Given the description of an element on the screen output the (x, y) to click on. 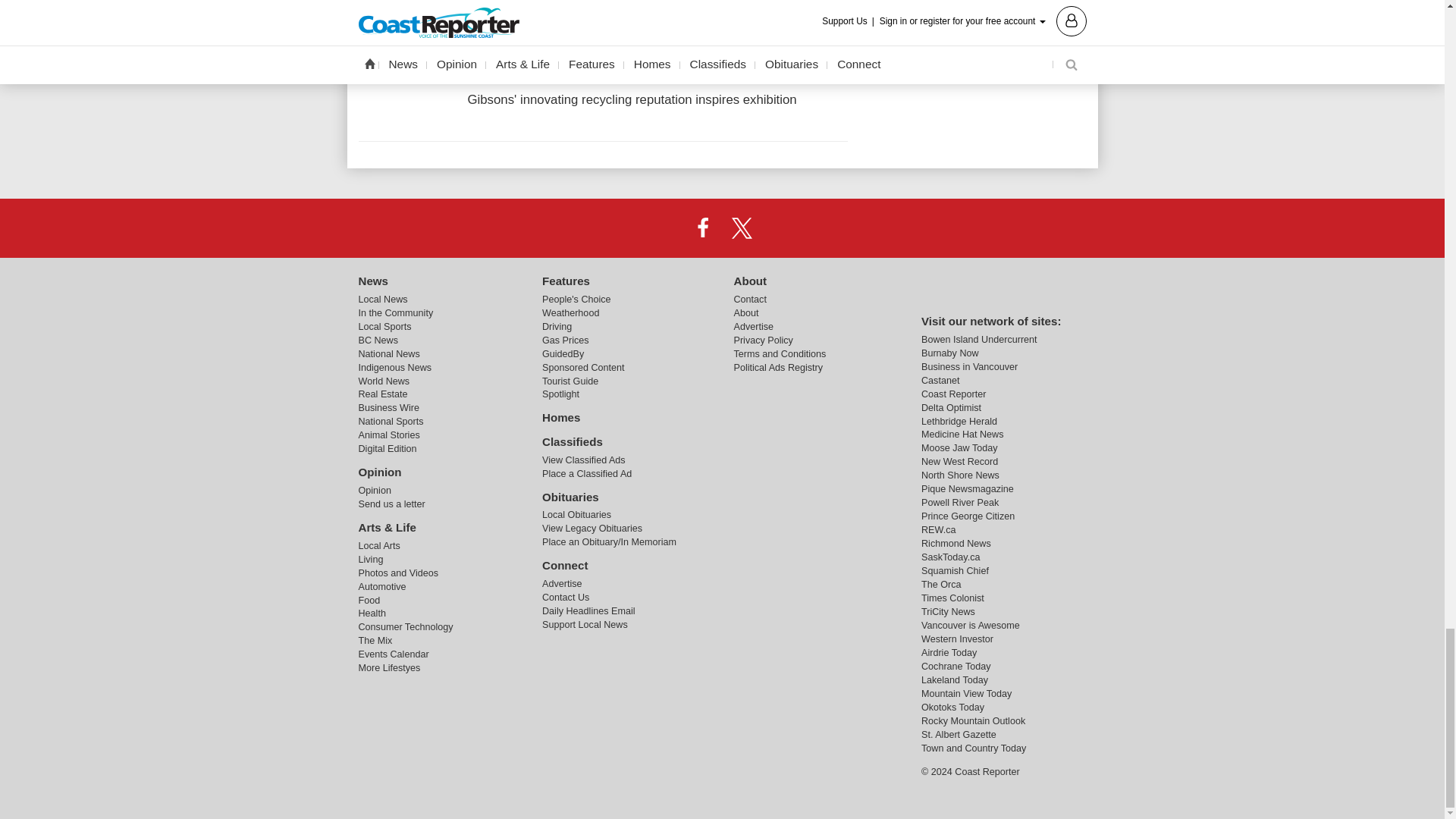
Facebook (702, 226)
X (741, 226)
